Given the description of an element on the screen output the (x, y) to click on. 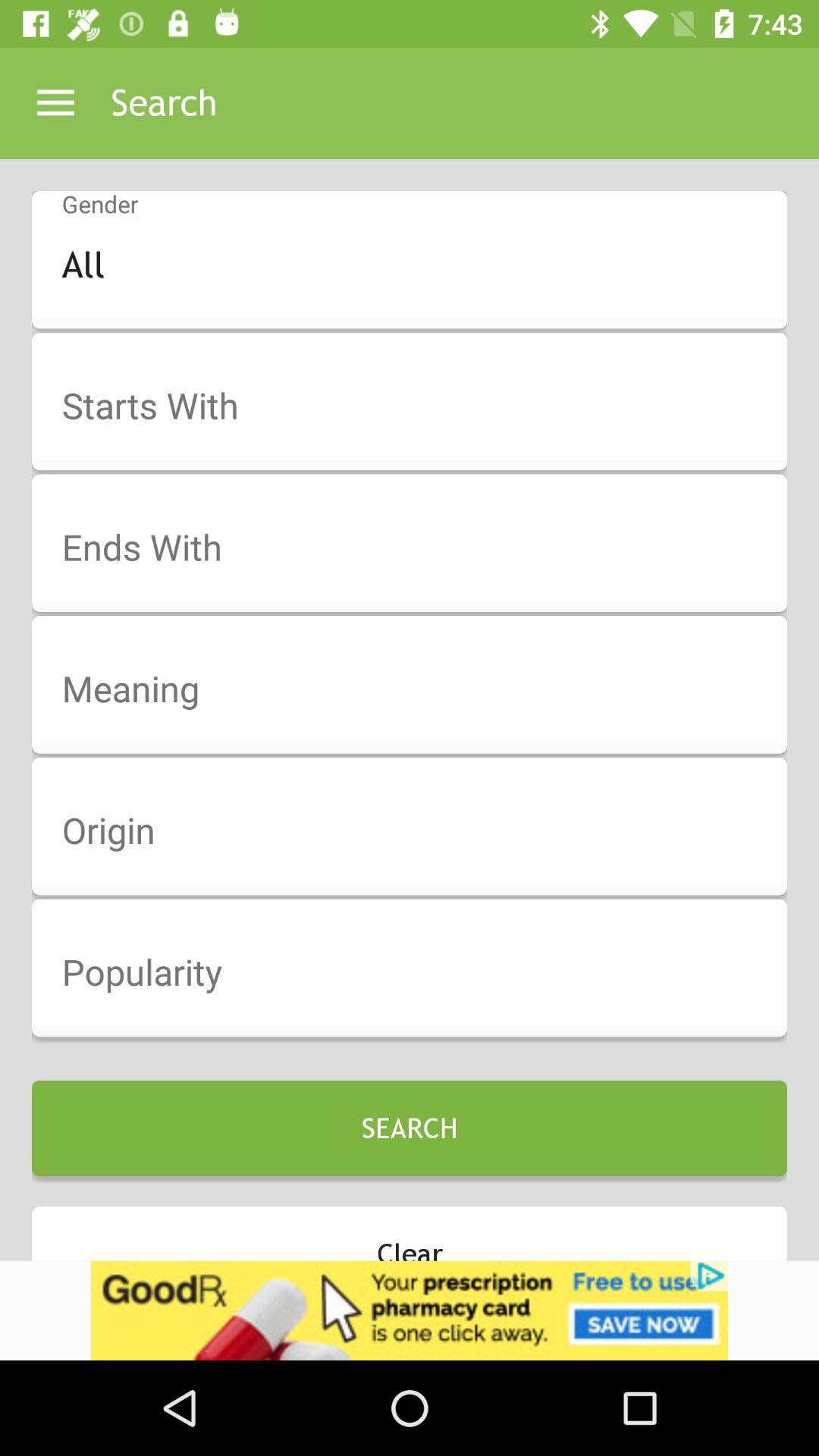
go to meaning option (419, 690)
